Given the description of an element on the screen output the (x, y) to click on. 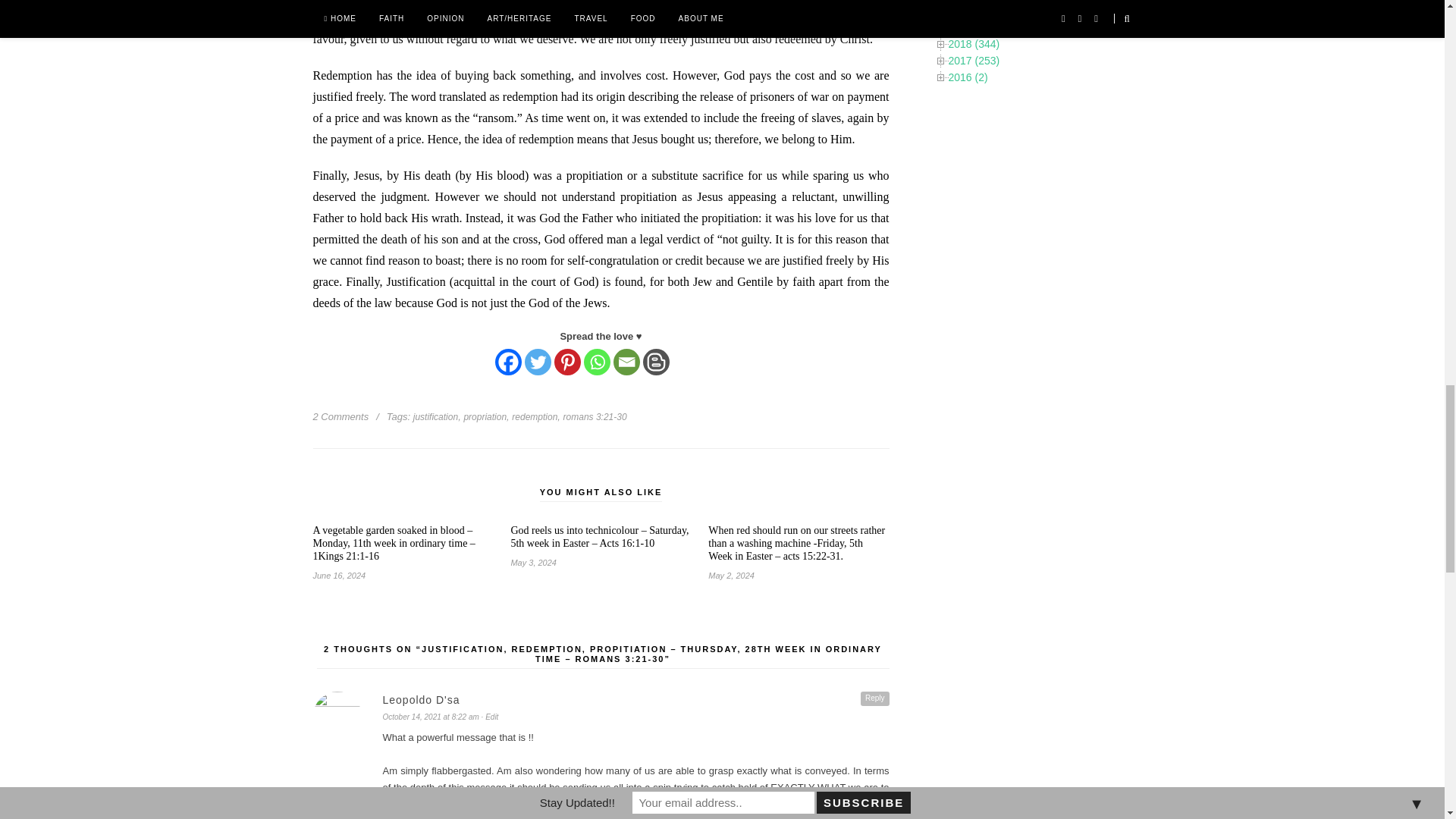
Blogger Post (656, 361)
Twitter (537, 361)
Facebook (508, 361)
Email (625, 361)
2 Comments (340, 416)
justification (435, 416)
October 14, 2021 at 8:22 am (430, 716)
Whatsapp (596, 361)
Pinterest (566, 361)
Edit Comment (490, 716)
